Given the description of an element on the screen output the (x, y) to click on. 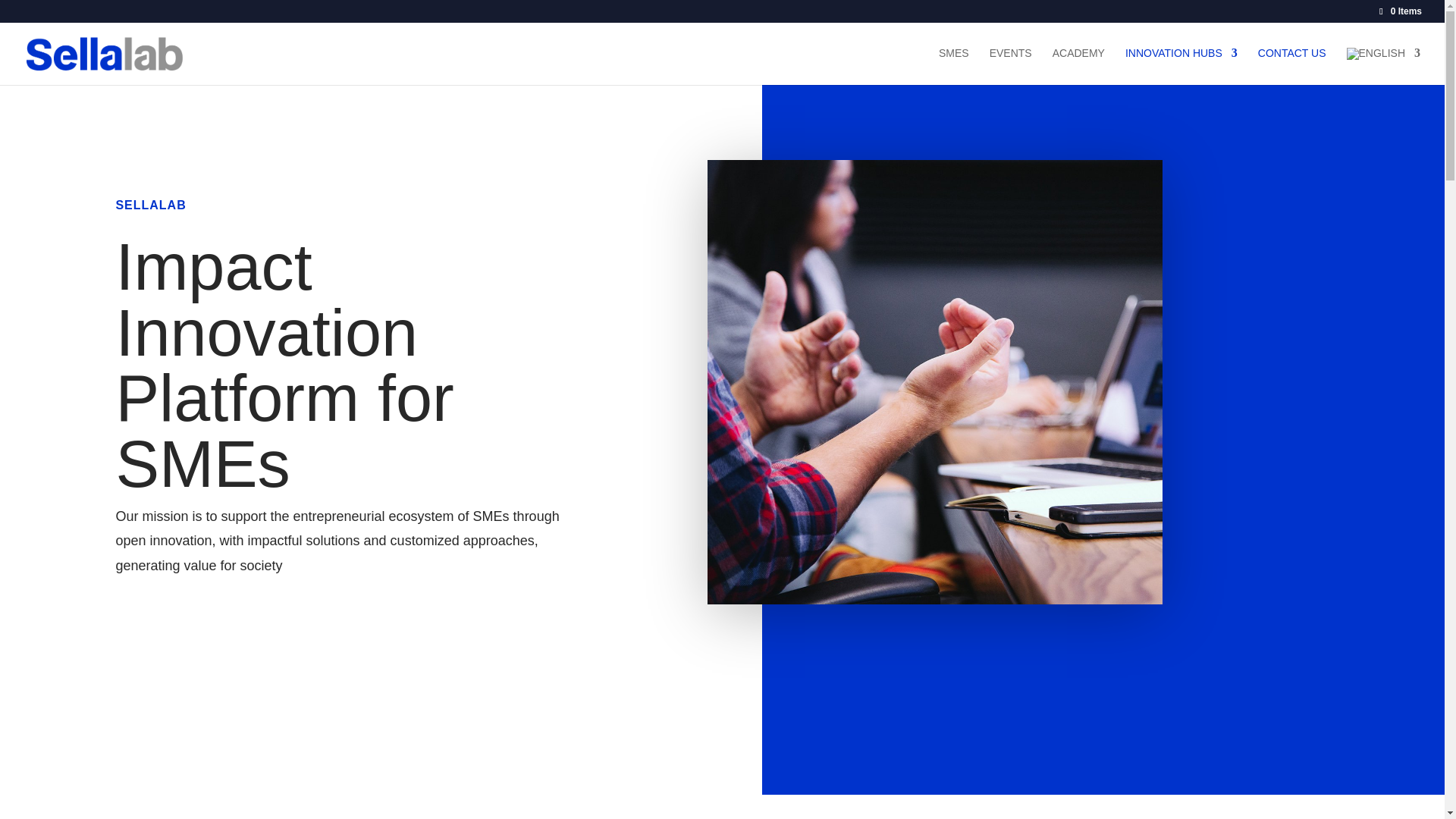
INNOVATION HUBS (1181, 65)
EVENTS (1011, 65)
0 Items (1399, 10)
CONTACT US (1291, 65)
ACADEMY (1078, 65)
